Given the description of an element on the screen output the (x, y) to click on. 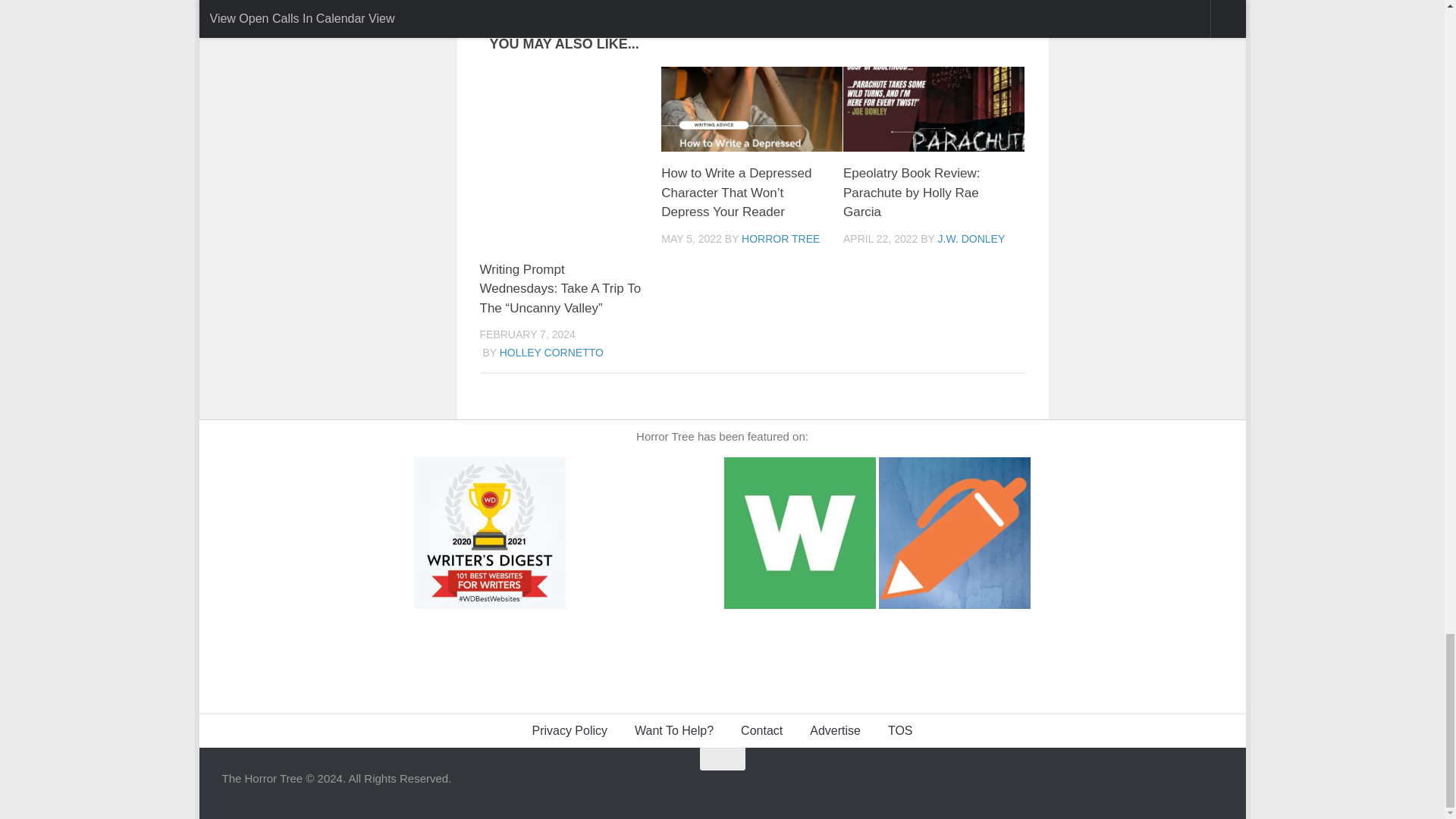
Posts by Holley Cornetto (551, 352)
Posts by Horror Tree (780, 238)
Posts by J.W. Donley (971, 238)
